Given the description of an element on the screen output the (x, y) to click on. 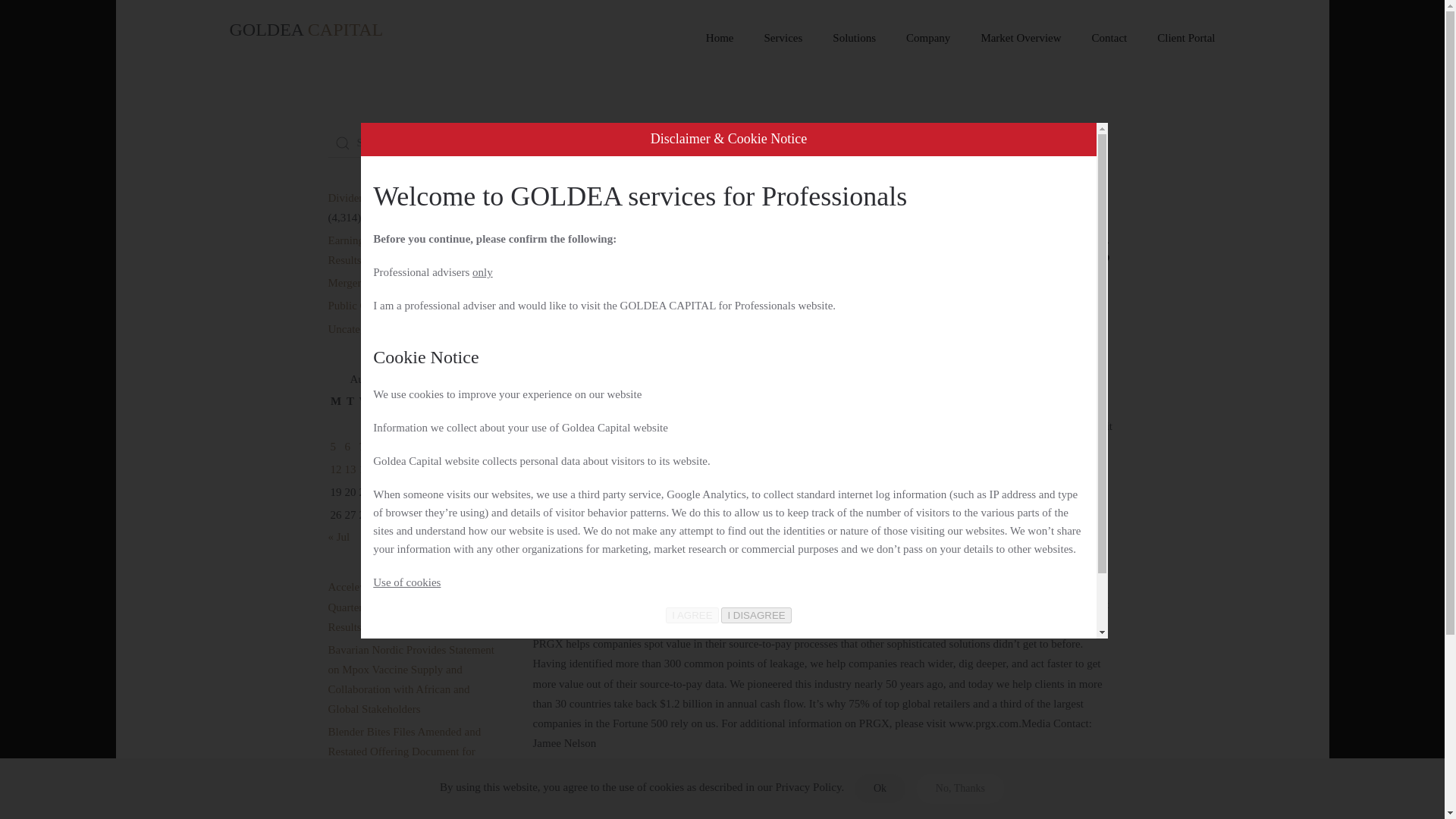
Earnings Releases And Operating Results (403, 250)
Services (783, 38)
Customer Service (745, 319)
Client Portal (1185, 38)
Solutions (853, 38)
I DISAGREE (755, 615)
Public Companies (946, 319)
Home (543, 139)
GOLDEA CAPITAL (305, 38)
Mergers And Acquisitions (386, 282)
